Given the description of an element on the screen output the (x, y) to click on. 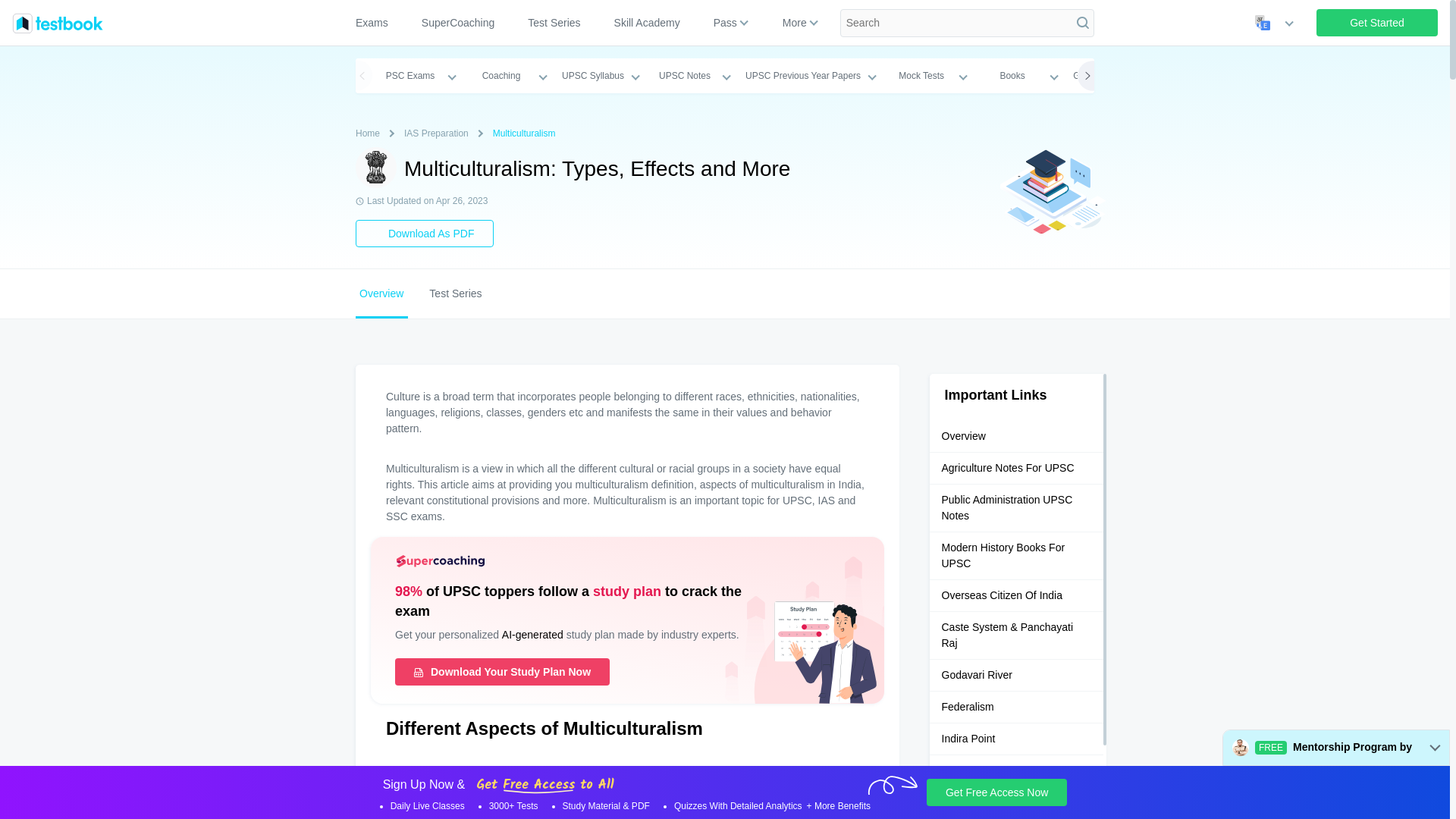
More (794, 22)
Get Started (1377, 22)
Sign Up (1377, 22)
Skill Academy (647, 22)
Test Series (553, 22)
Exams (377, 22)
Pass (725, 22)
Multiculturalism: Types, Effects and More (375, 167)
SuperCoaching (457, 22)
